Given the description of an element on the screen output the (x, y) to click on. 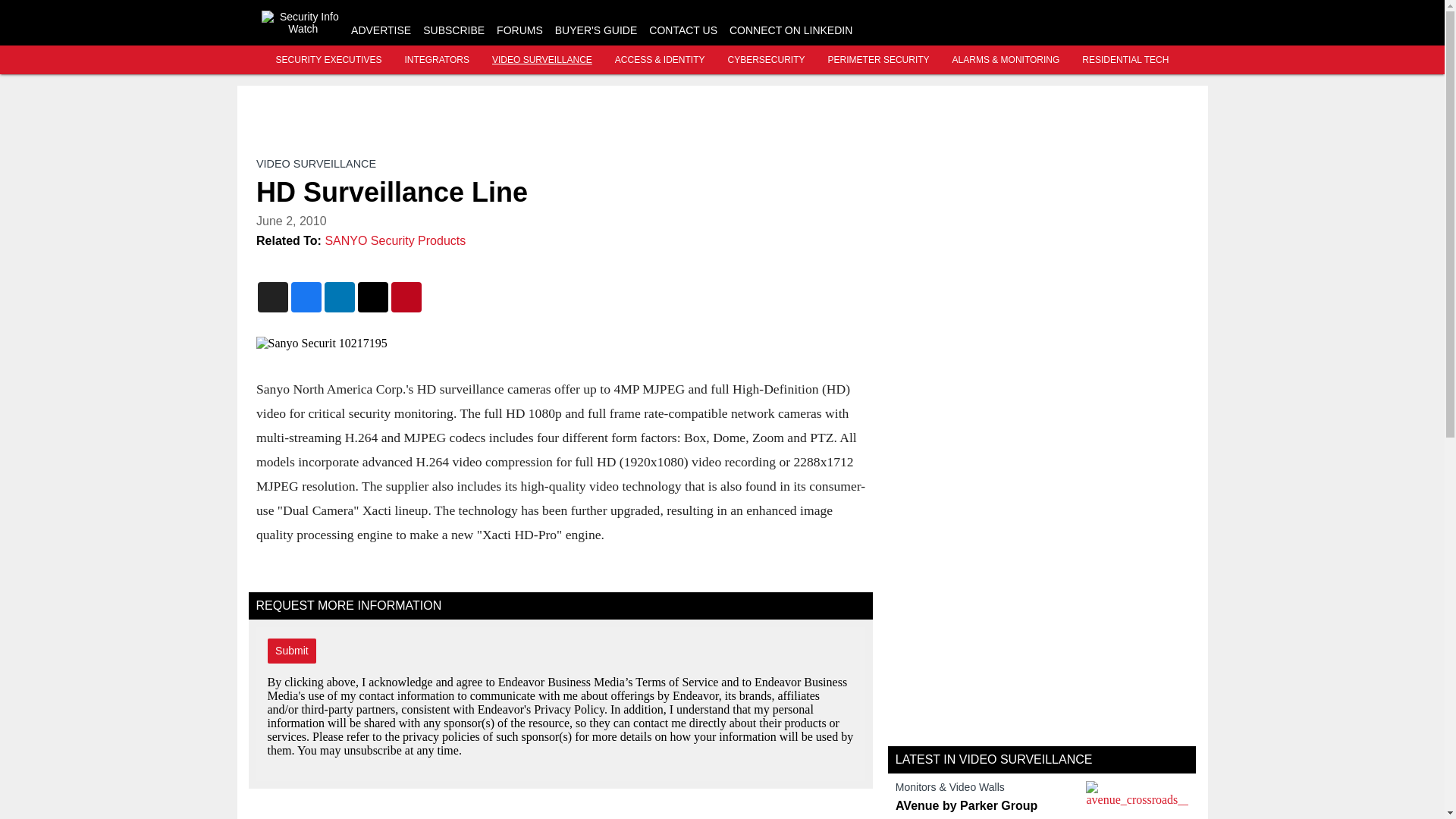
FORUMS (519, 30)
INTEGRATORS (436, 59)
SANYO Security Products (394, 240)
CONNECT ON LINKEDIN (790, 30)
RESIDENTIAL TECH (1125, 59)
CYBERSECURITY (766, 59)
AVenue by Parker Group (986, 806)
BUYER'S GUIDE (595, 30)
Sanyo Securit 10217195 (560, 343)
VIDEO SURVEILLANCE (542, 59)
